Given the description of an element on the screen output the (x, y) to click on. 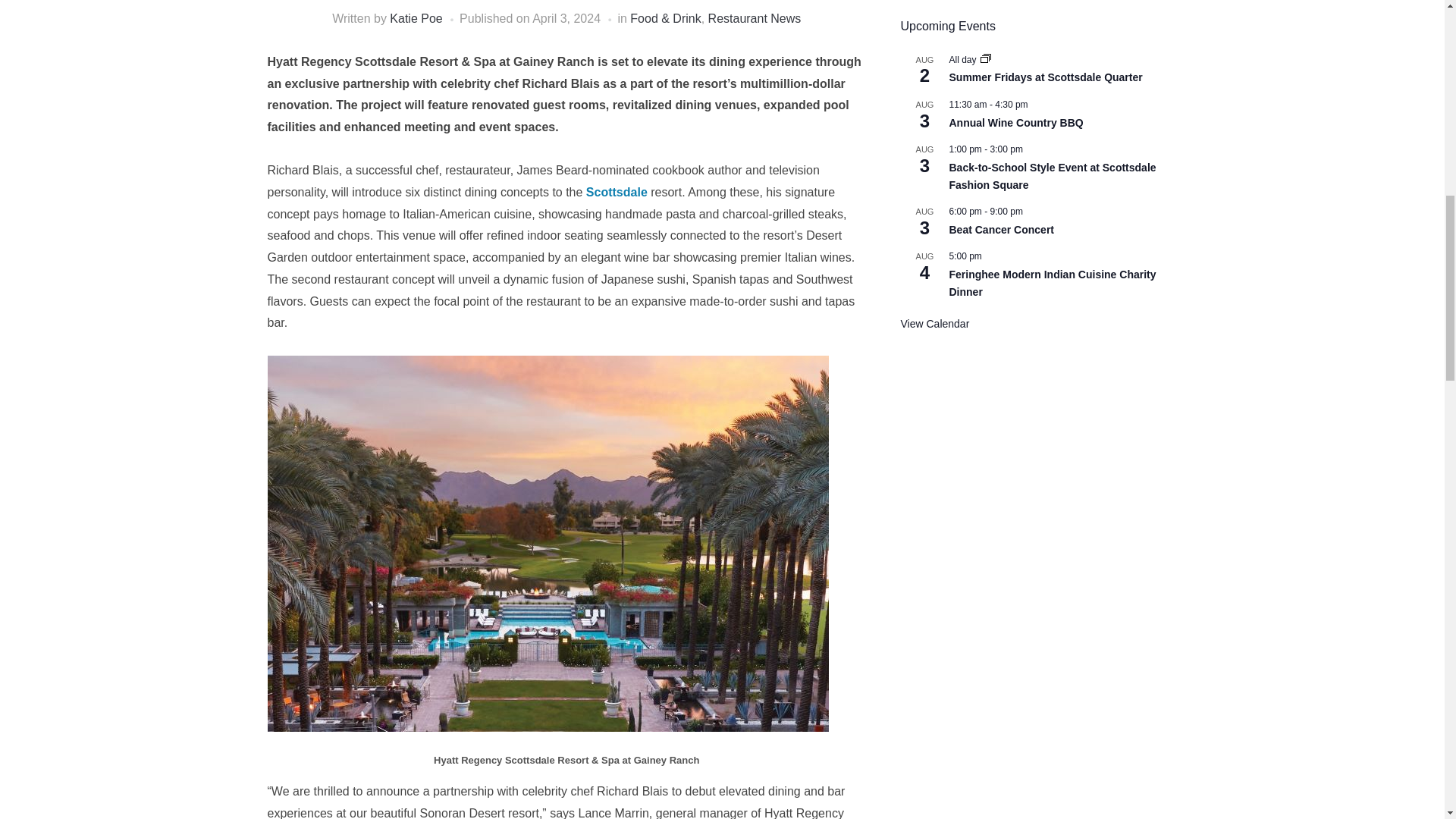
Event Series (985, 58)
Posts by Katie Poe (416, 18)
